Given the description of an element on the screen output the (x, y) to click on. 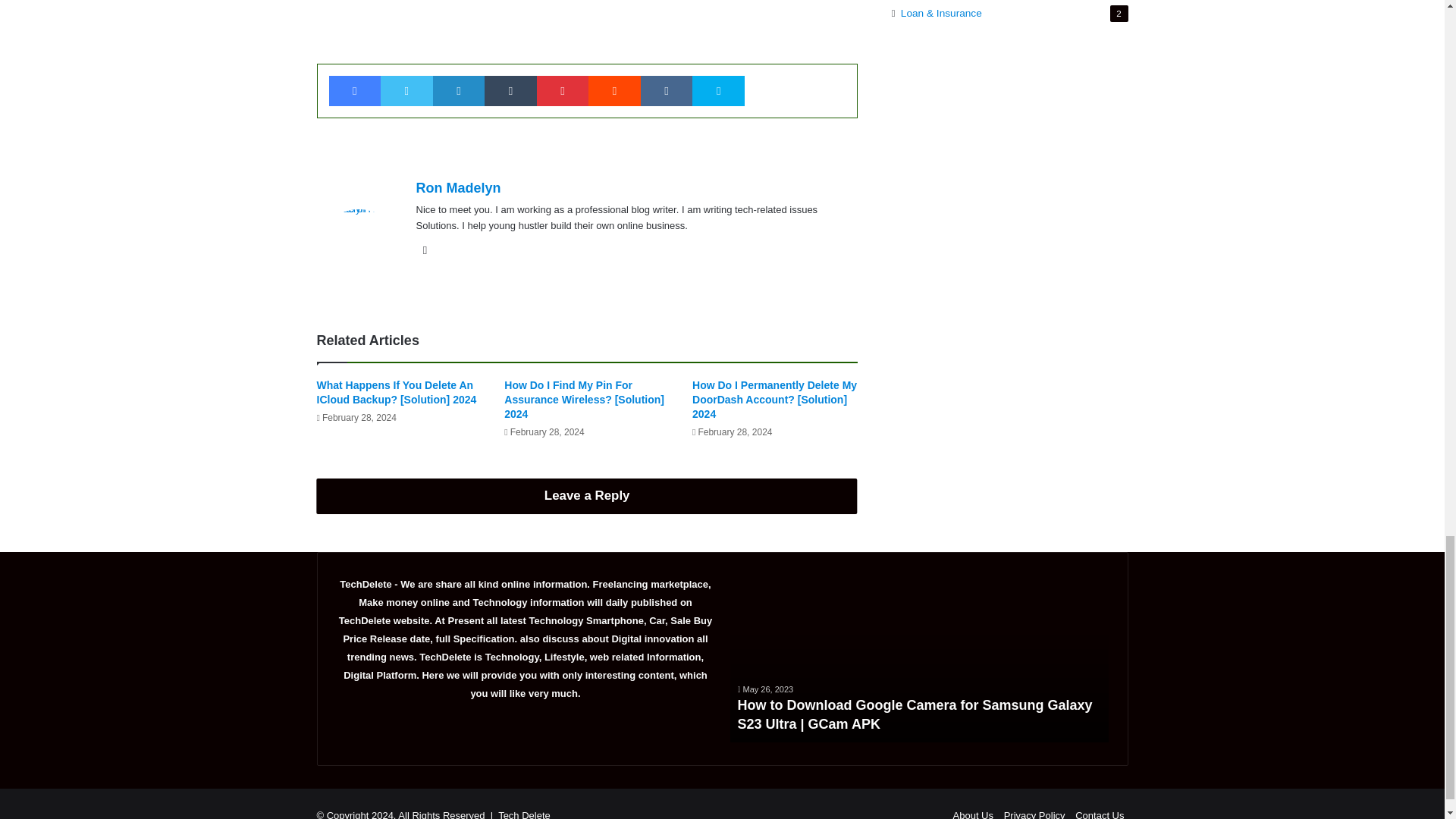
LinkedIn (458, 91)
Twitter (406, 91)
Website (423, 249)
VKontakte (666, 91)
LinkedIn (458, 91)
Facebook (355, 91)
Tumblr (510, 91)
Twitter (406, 91)
Pinterest (563, 91)
Skype (718, 91)
